Given the description of an element on the screen output the (x, y) to click on. 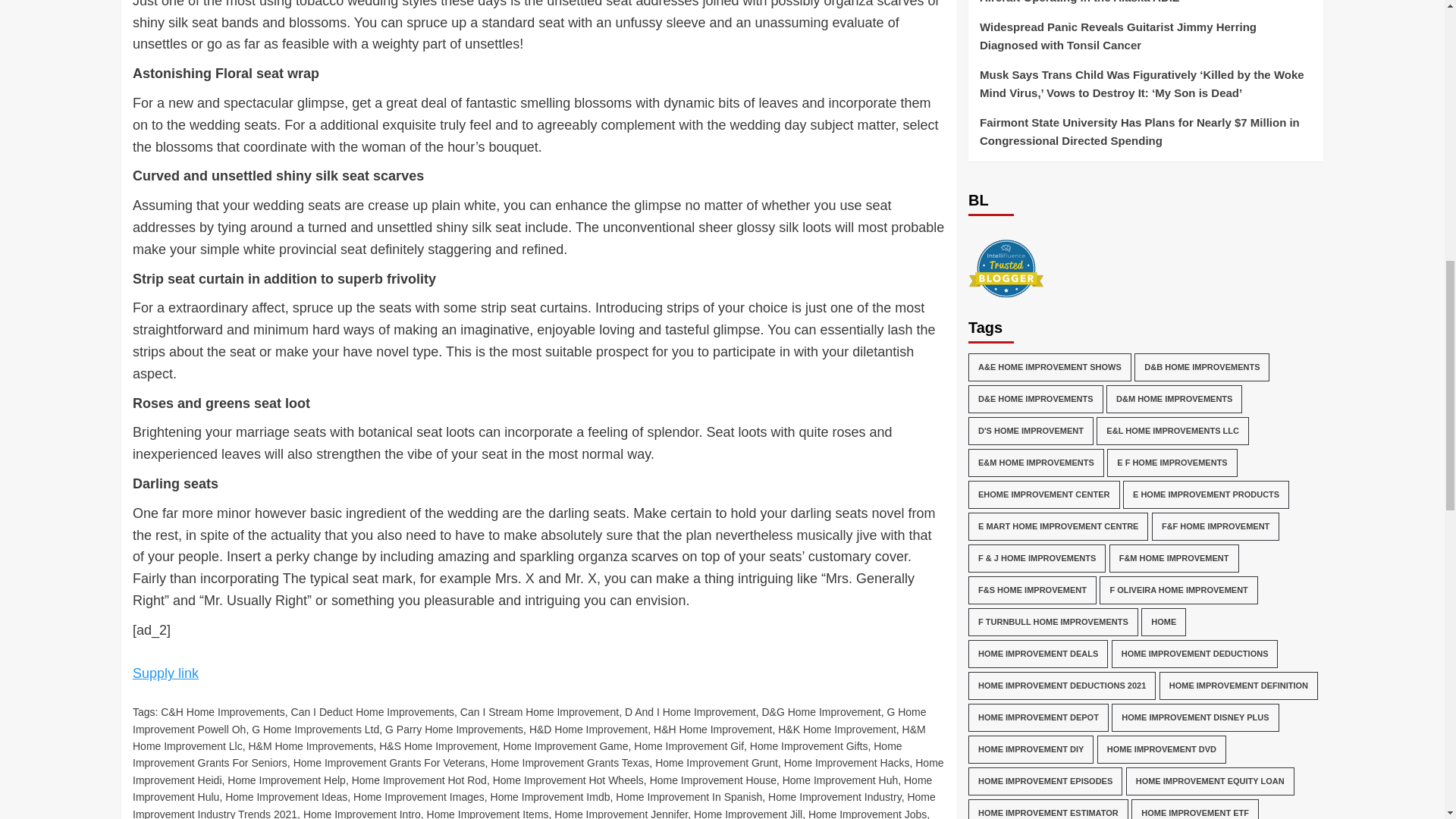
Home Improvement Gif (688, 746)
Supply link (165, 672)
Can I Deduct Home Improvements (372, 711)
G Home Improvements Ltd (314, 729)
G Home Improvement Powell Oh (529, 719)
Can I Stream Home Improvement (539, 711)
G Parry Home Improvements (453, 729)
D And I Home Improvement (689, 711)
Home Improvement Game (565, 746)
